Given the description of an element on the screen output the (x, y) to click on. 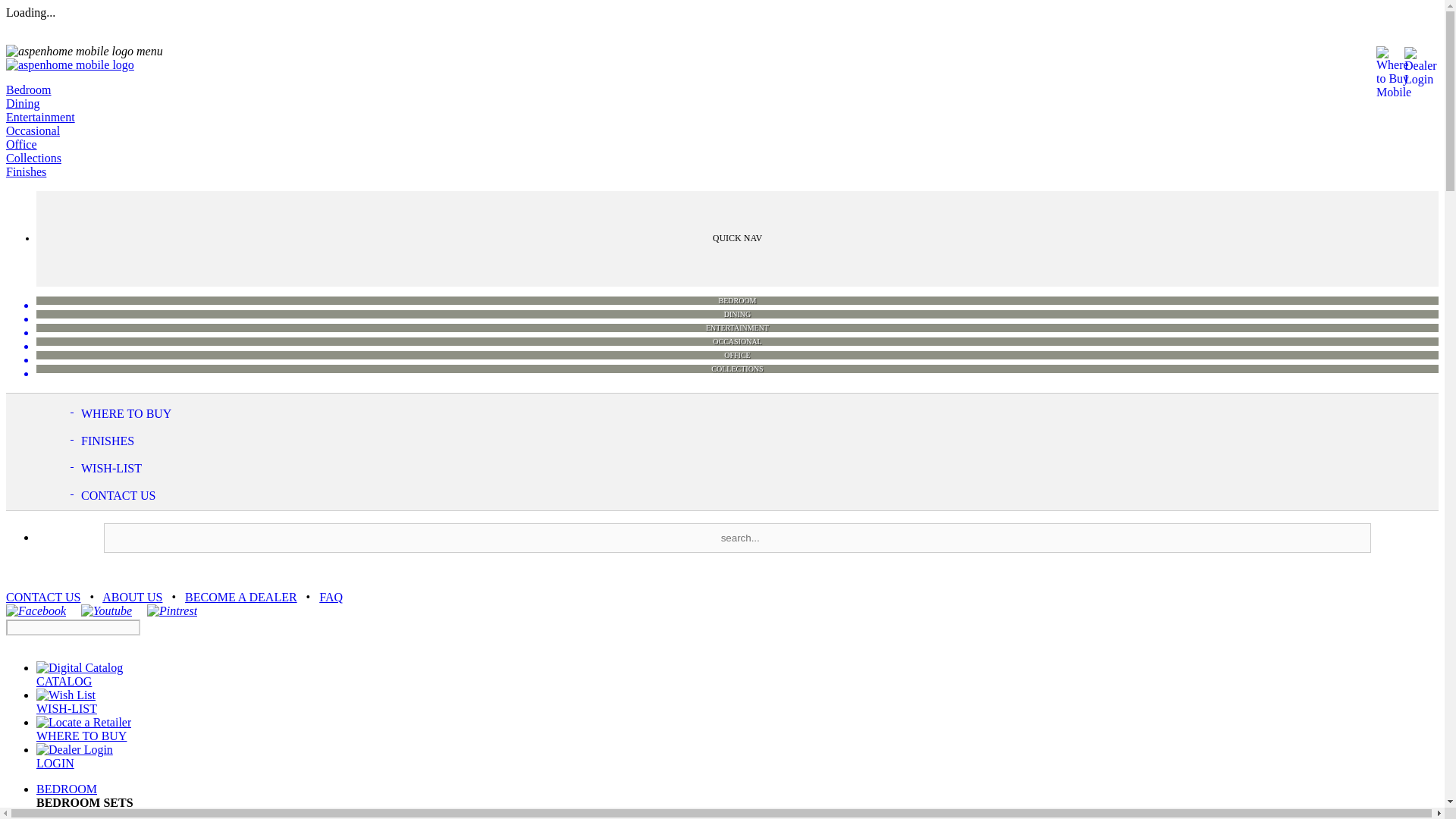
Beds (48, 814)
CONTACT US (42, 596)
FAQ (330, 596)
Home Page (69, 64)
BECOME A DEALER (240, 596)
ABOUT US (131, 596)
WHERE TO BUY (107, 407)
aspenhome finishes (88, 434)
